Given the description of an element on the screen output the (x, y) to click on. 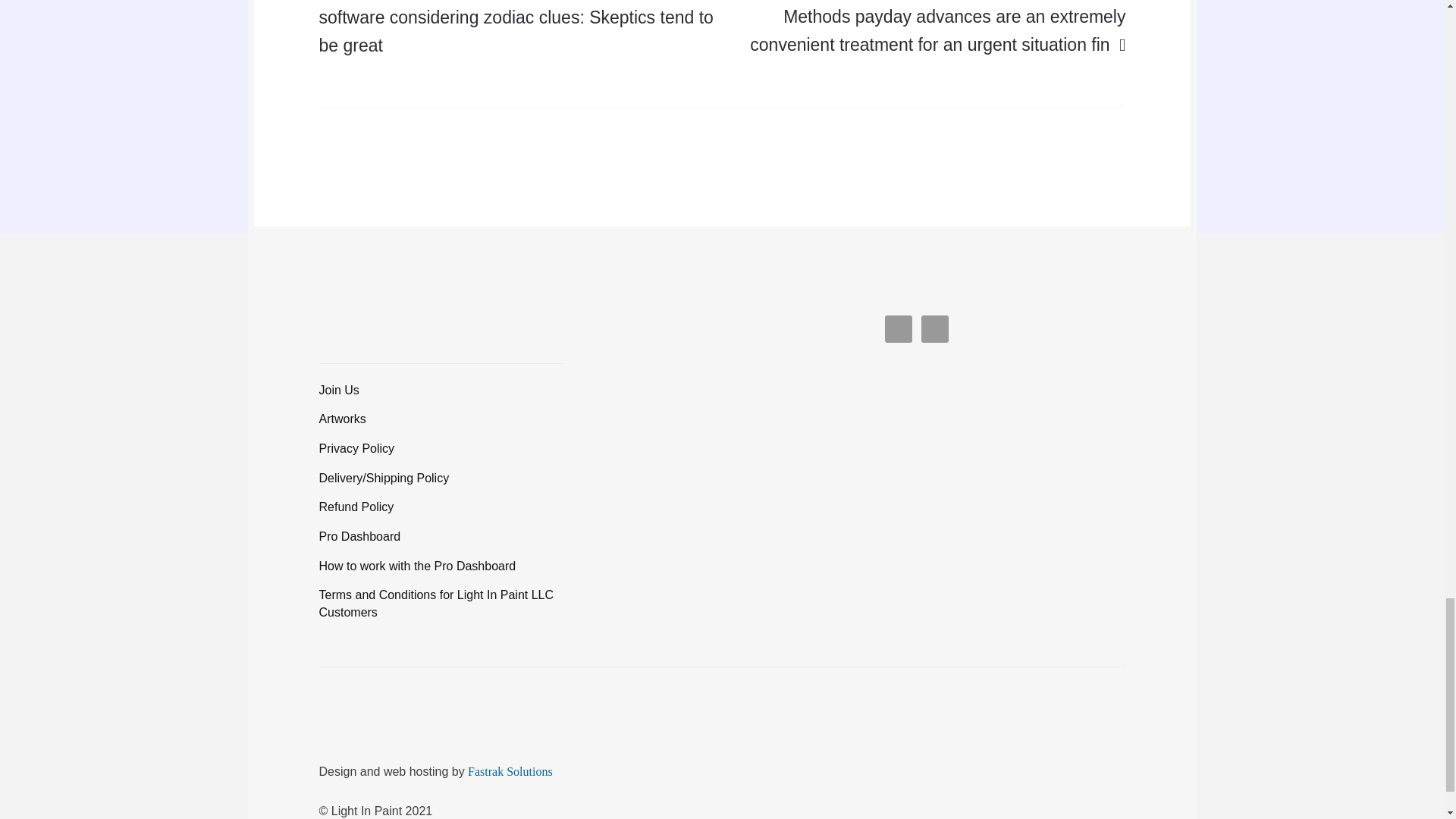
Privacy Policy (356, 448)
Artworks (342, 418)
Join Us (338, 390)
